Given the description of an element on the screen output the (x, y) to click on. 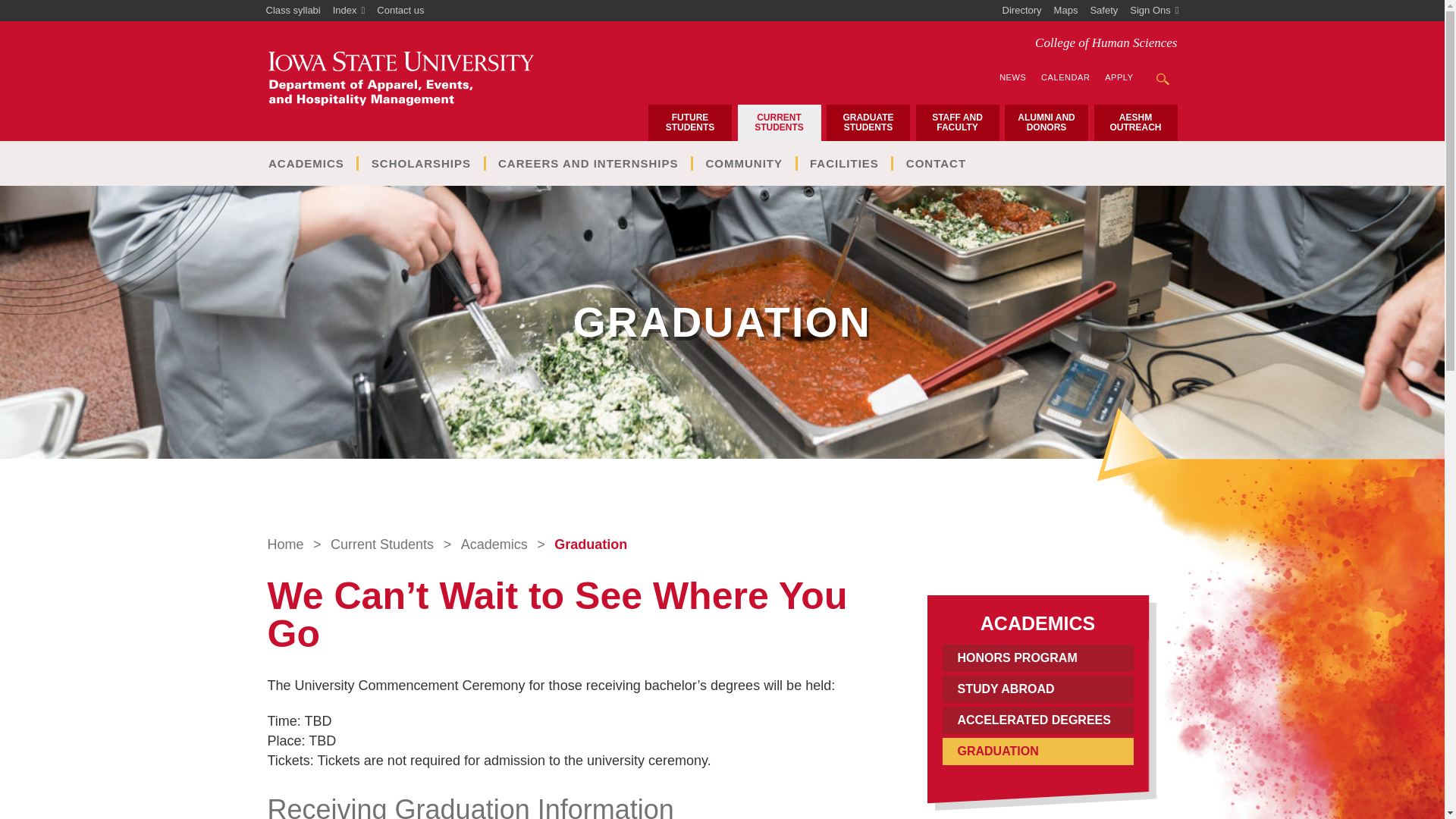
Directory (1021, 10)
Contact us (400, 10)
Safety (1103, 10)
Maps (1066, 10)
Sign Ons (1154, 10)
Index (348, 10)
Class syllabi (292, 10)
